Given the description of an element on the screen output the (x, y) to click on. 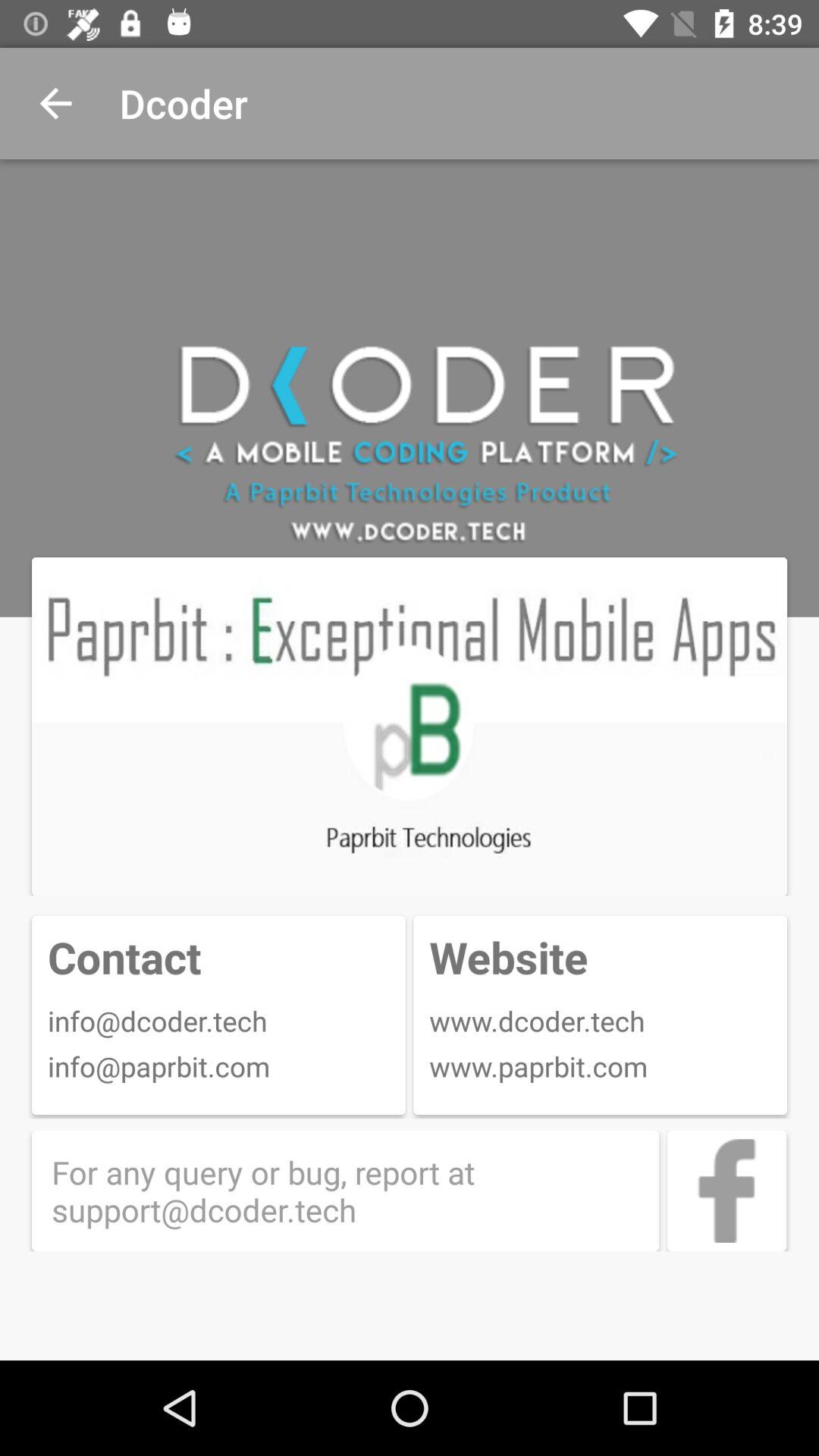
go to d oder 's facebook page (726, 1190)
